Given the description of an element on the screen output the (x, y) to click on. 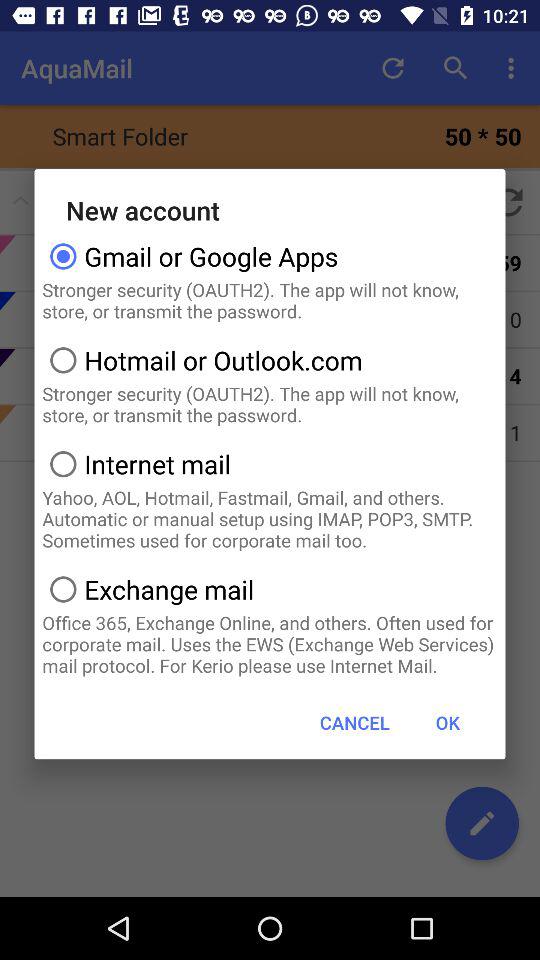
open the icon below the office 365 exchange (354, 722)
